Given the description of an element on the screen output the (x, y) to click on. 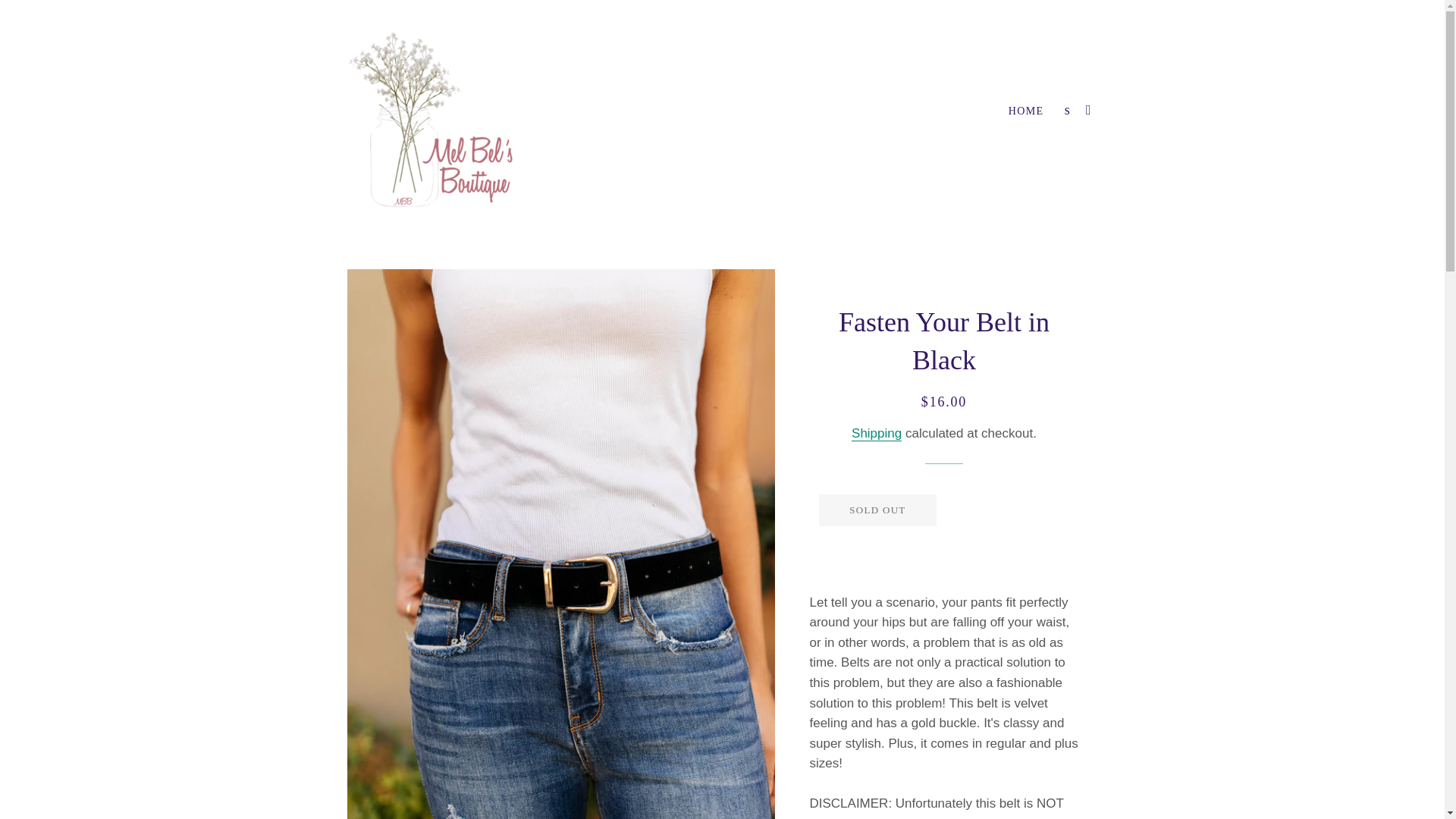
HOME (1026, 111)
Shipping (876, 433)
SOLD OUT (877, 510)
